Given the description of an element on the screen output the (x, y) to click on. 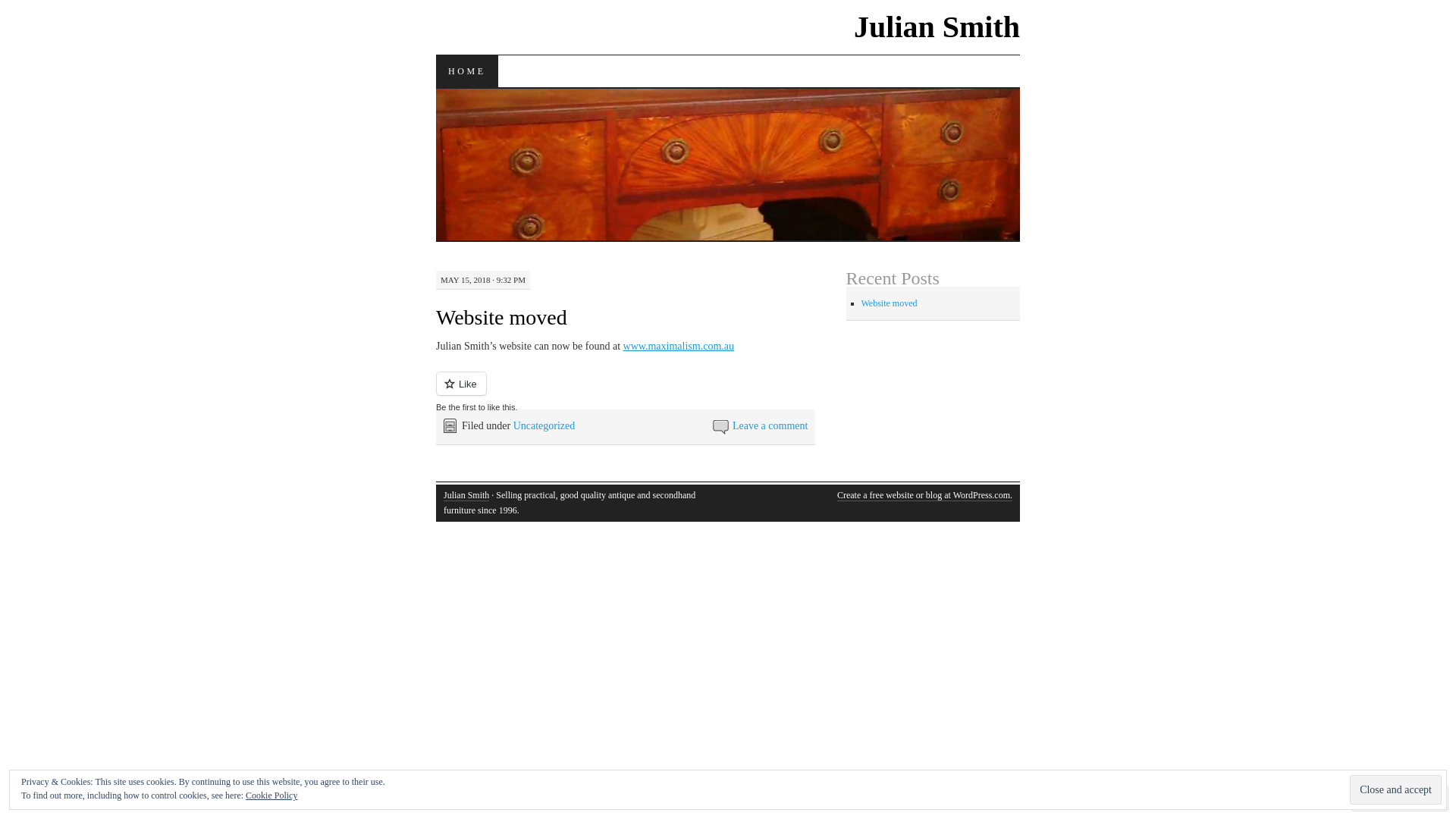
Like or Reblog Element type: hover (625, 392)
Cookie Policy Element type: text (271, 795)
www.maximalism.com.au Element type: text (678, 345)
Julian Smith Element type: text (466, 495)
Julian Smith Element type: text (936, 26)
Follow Element type: text (1385, 797)
Website moved Element type: text (501, 317)
Create a free website or blog at WordPress.com. Element type: text (924, 495)
Uncategorized Element type: text (544, 425)
Website moved Element type: text (889, 303)
HOME Element type: text (467, 71)
Close and accept Element type: text (1395, 789)
Leave a comment Element type: text (770, 425)
